Given the description of an element on the screen output the (x, y) to click on. 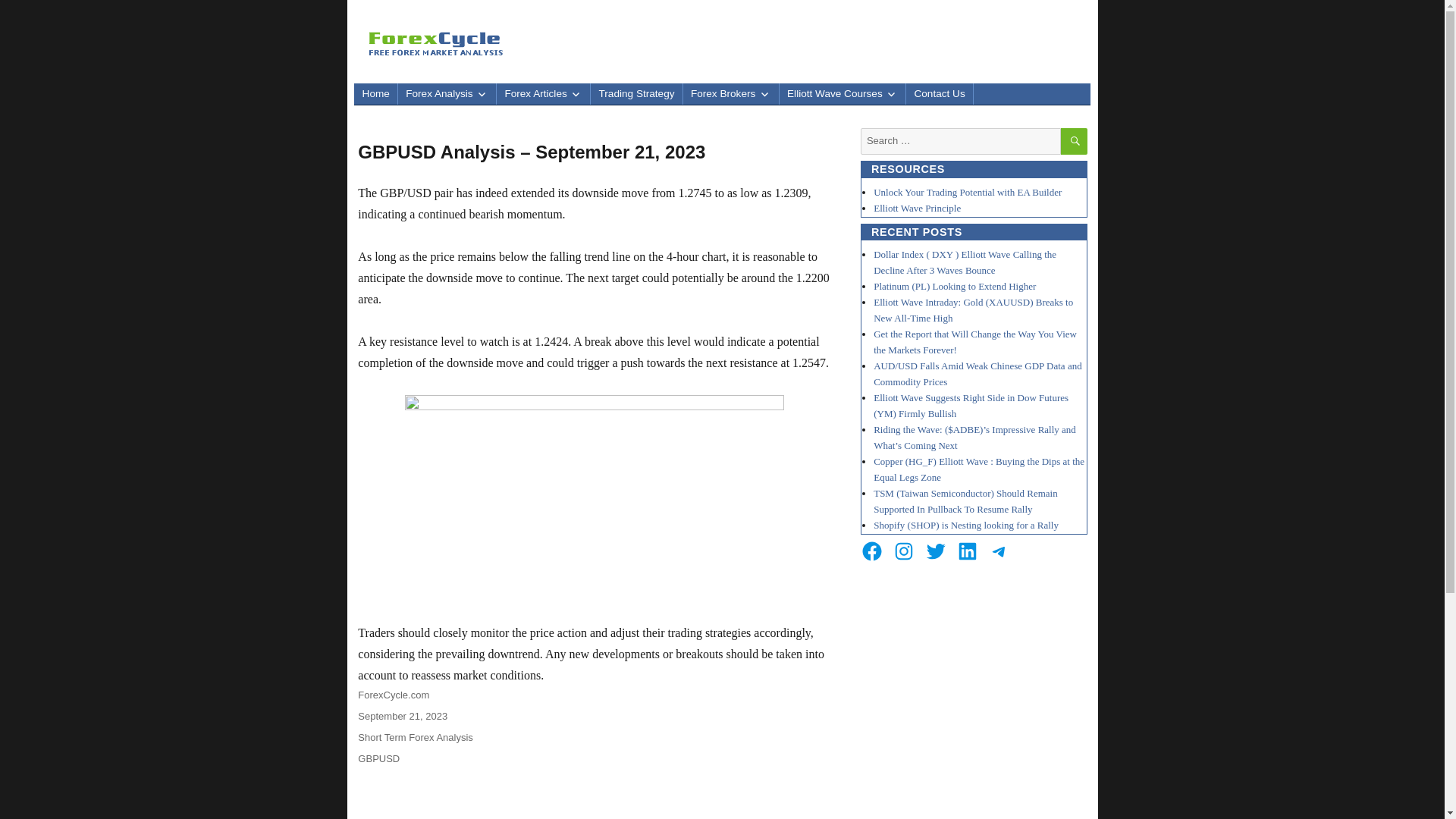
Forex Analysis (446, 93)
Home (375, 93)
Elliott Wave Courses (841, 93)
ForexCycle.com (393, 695)
Contact Us (938, 93)
September 21, 2023 (402, 715)
Trading Strategy (636, 93)
Forex Articles (542, 93)
Forex Brokers (730, 93)
